Given the description of an element on the screen output the (x, y) to click on. 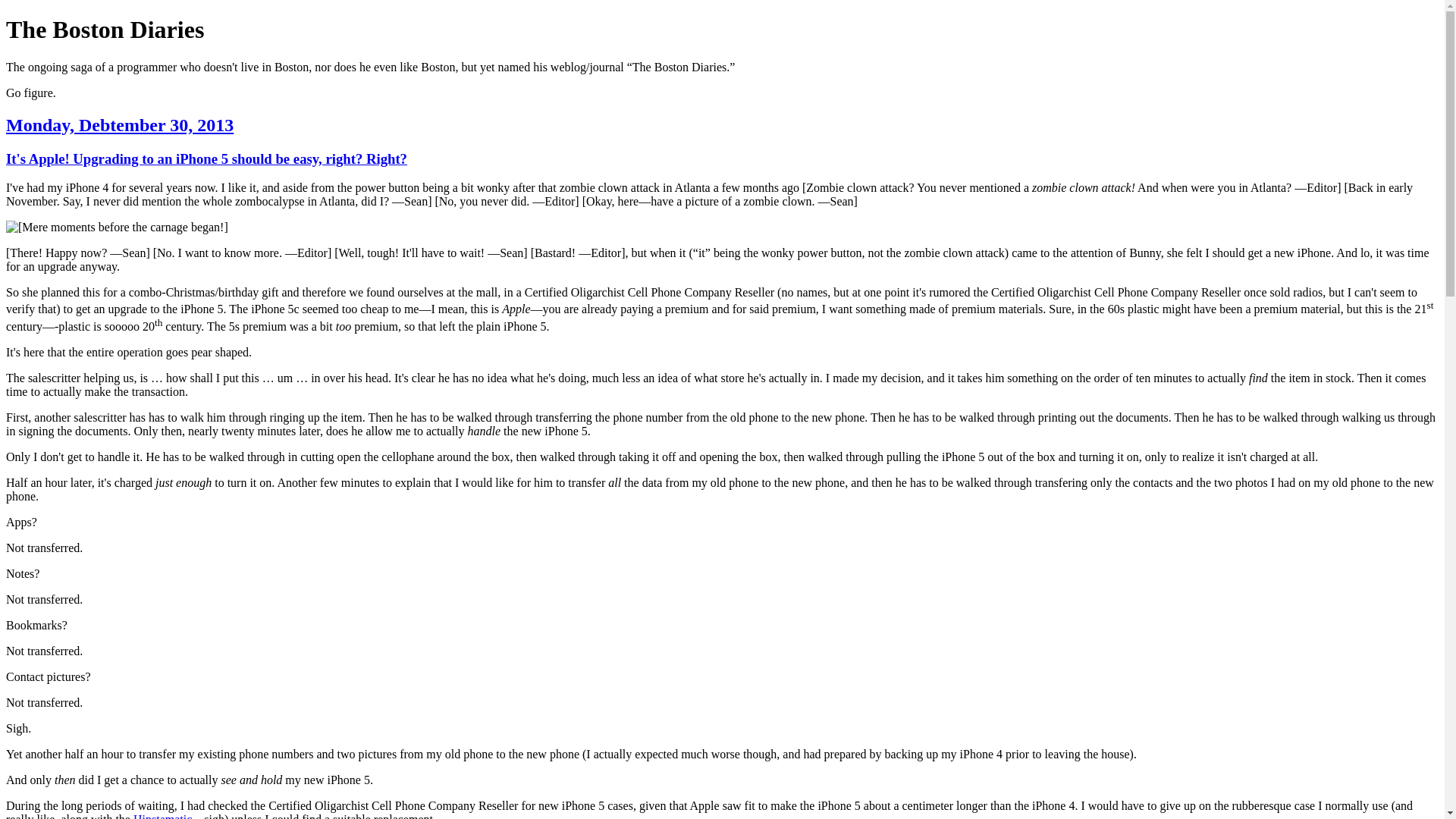
Mere moments before the carnage began! (116, 227)
Hipstamatic (162, 816)
Monday, Debtember 30, 2013 (118, 125)
